Given the description of an element on the screen output the (x, y) to click on. 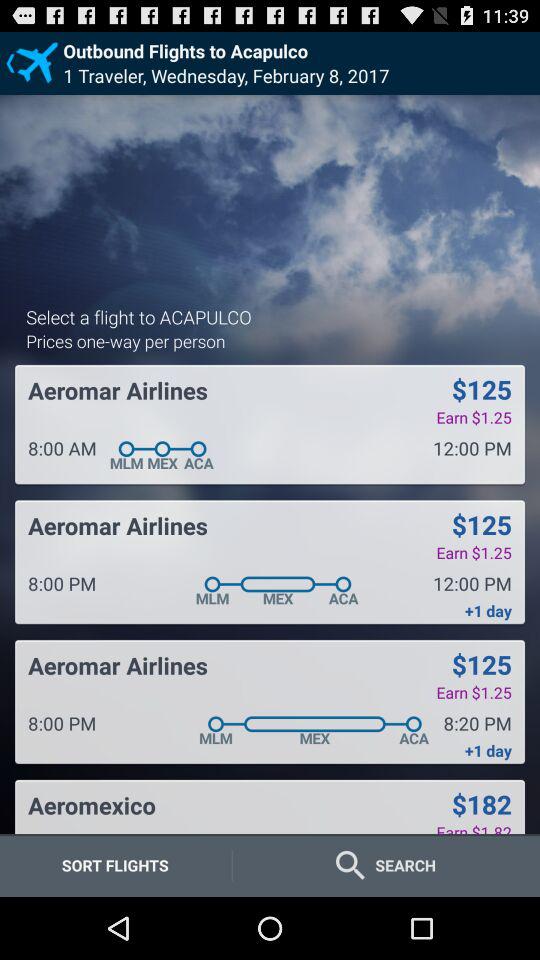
open the app above the aeromar airlines app (125, 340)
